Given the description of an element on the screen output the (x, y) to click on. 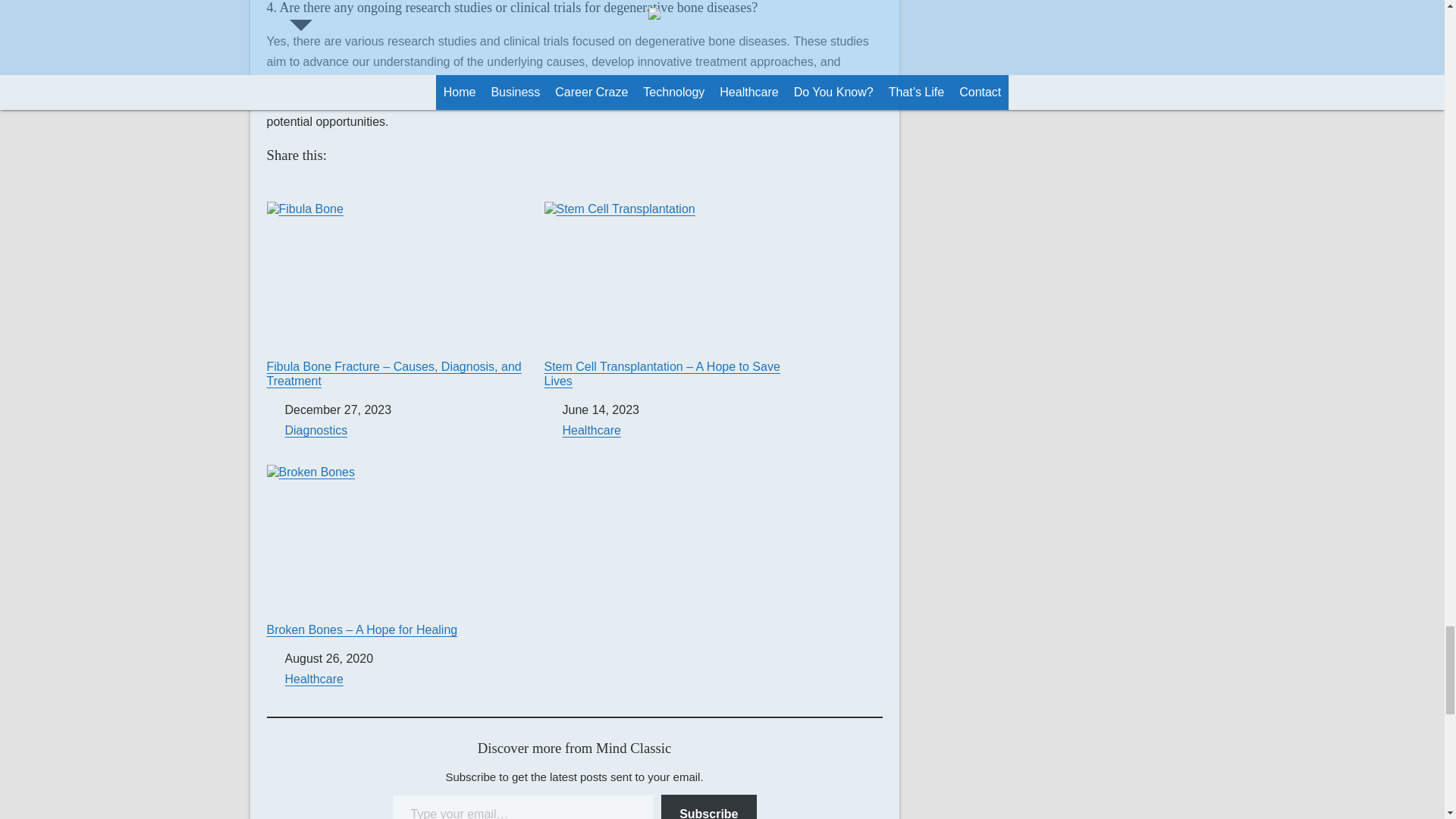
Please fill in this field. (523, 806)
Click to share on WhatsApp (351, 183)
Click to share on Pinterest (400, 183)
Click to share on Twitter (278, 183)
Click to share on Email (376, 183)
Click to share on Facebook (303, 183)
Click to share on LinkedIn (327, 183)
